Given the description of an element on the screen output the (x, y) to click on. 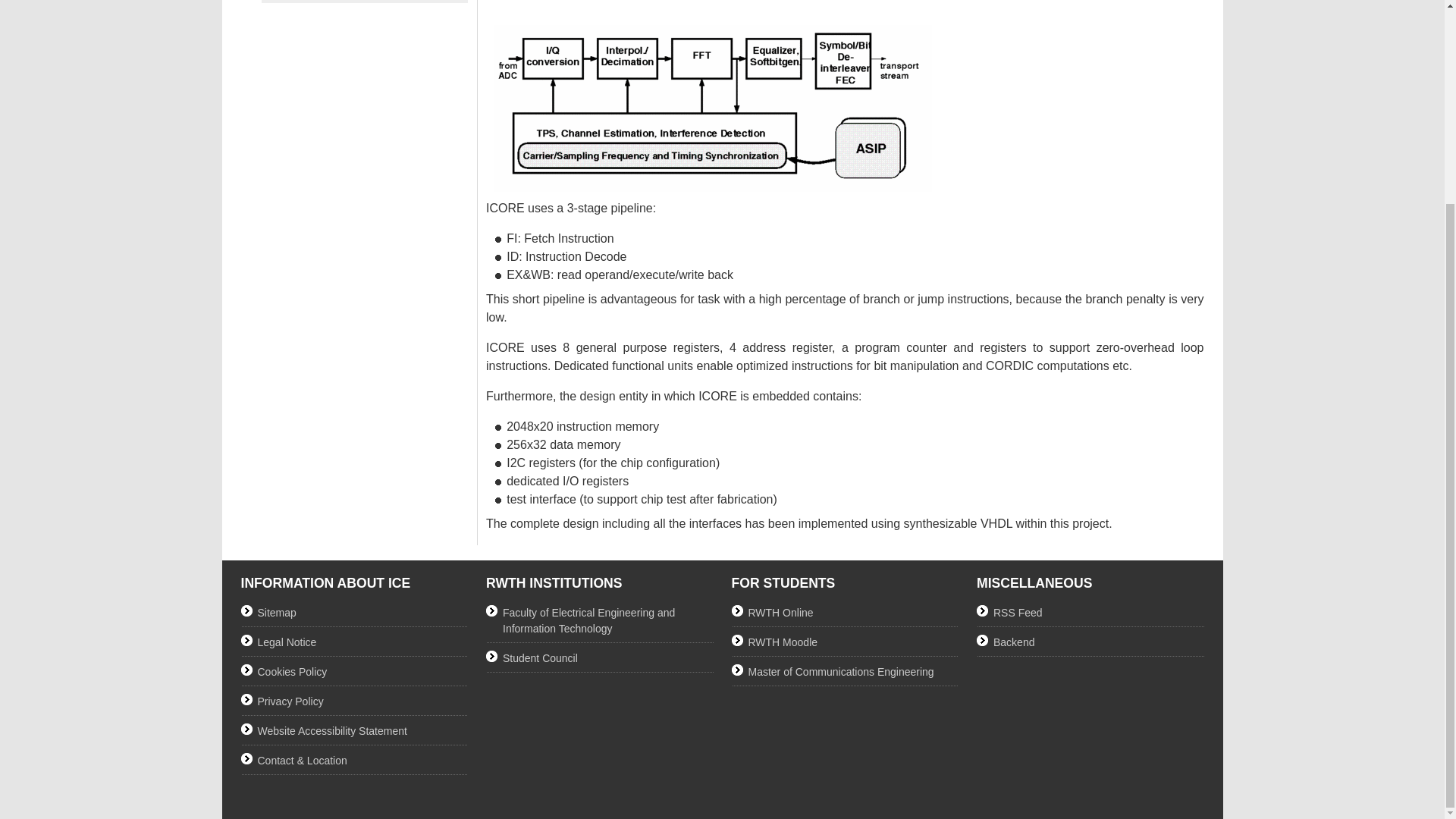
Privacy Policy (354, 701)
Legal Notice (354, 642)
Student Council (599, 658)
RWTH Moodle (844, 642)
RWTH Online (844, 612)
Master of Communications Engineering (844, 672)
Cookies Policy (354, 672)
Website Accessibility Statement (354, 731)
Faculty of Electrical Engineering and Information Technology (599, 621)
